Given the description of an element on the screen output the (x, y) to click on. 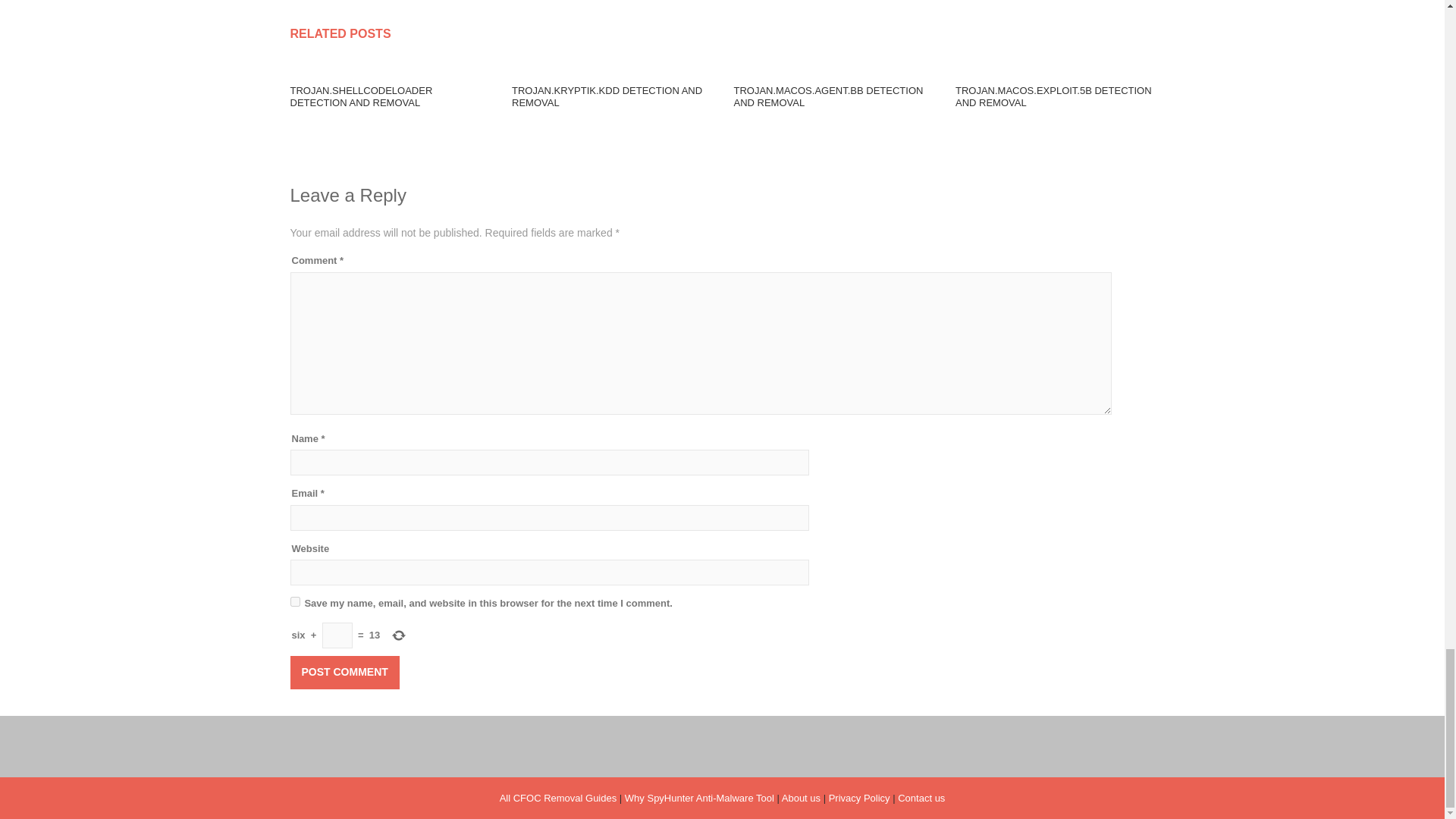
About us (801, 797)
yes (294, 601)
TROJAN.SHELLCODELOADER DETECTION AND REMOVAL (360, 96)
All CFOC Removal Guides (558, 797)
Post Comment (343, 672)
TROJAN.MACOS.AGENT.BB DETECTION AND REMOVAL (828, 96)
Contact us (921, 797)
TROJAN.KRYPTIK.KDD DETECTION AND REMOVAL (606, 96)
Post Comment (343, 672)
TROJAN.MACOS.EXPLOIT.5B DETECTION AND REMOVAL (1053, 96)
